Given the description of an element on the screen output the (x, y) to click on. 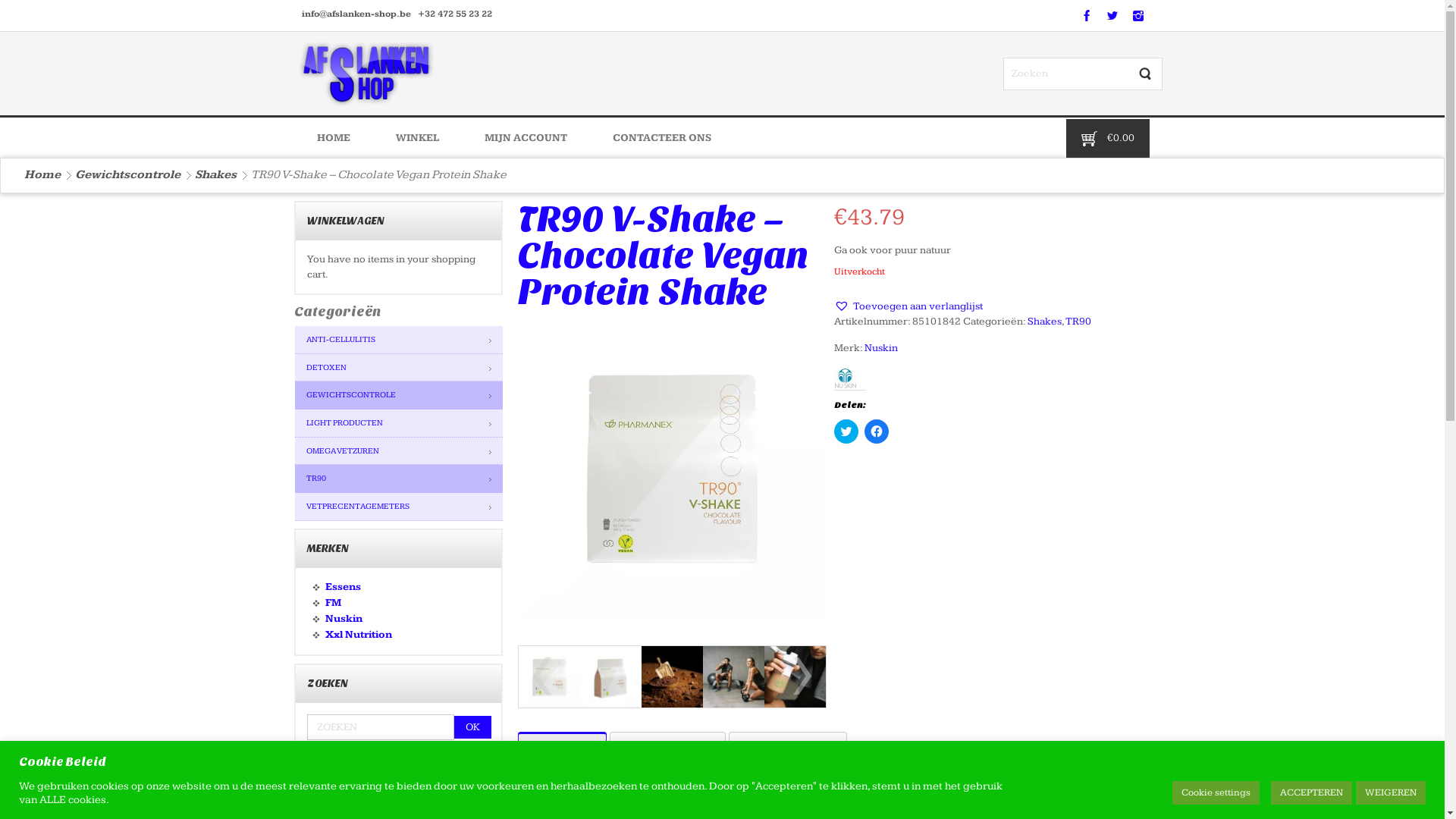
MIJN ACCOUNT Element type: text (525, 137)
Xxl Nutrition Element type: text (357, 634)
BEOORDELINGEN (0) Element type: text (787, 746)
VETPRECENTAGEMETERS Element type: text (398, 506)
EXTRA INFORMATIE Element type: text (667, 746)
pharmanex-tr90-vshake-vegan-protein-activity-lifestyle-image Element type: hover (733, 676)
LIGHT PRODUCTEN Element type: text (398, 423)
OK Element type: text (471, 726)
TR90 Element type: text (398, 478)
ANTI-CELLULITIS Element type: text (398, 340)
fullImage.imgw.1280.1280 Element type: hover (549, 676)
Nuskin Element type: text (880, 348)
FM Element type: text (332, 602)
Essens Element type: text (342, 586)
HOME Element type: text (333, 137)
ACCEPTEREN Element type: text (1311, 792)
Toevoegen aan verlanglijst Element type: text (908, 305)
CONTACTEER ONS Element type: text (661, 137)
DETOXEN Element type: text (398, 368)
Shakes Element type: text (1044, 321)
pharmanex-tr90-vshake-vegan-protein-man-lifestyle-image Element type: hover (794, 676)
Cookie settings Element type: text (1215, 792)
Gewichtscontrole Element type: text (127, 174)
TR90 Element type: text (1078, 321)
Home Element type: text (42, 174)
GEWICHTSCONTROLE Element type: text (398, 395)
OMEGA VETZUREN Element type: text (398, 451)
Shakes Element type: text (215, 174)
Nuskin Element type: text (342, 618)
BESCHRIJVING Element type: text (561, 747)
WINKEL Element type: text (417, 137)
WEIGEREN Element type: text (1390, 792)
